Given the description of an element on the screen output the (x, y) to click on. 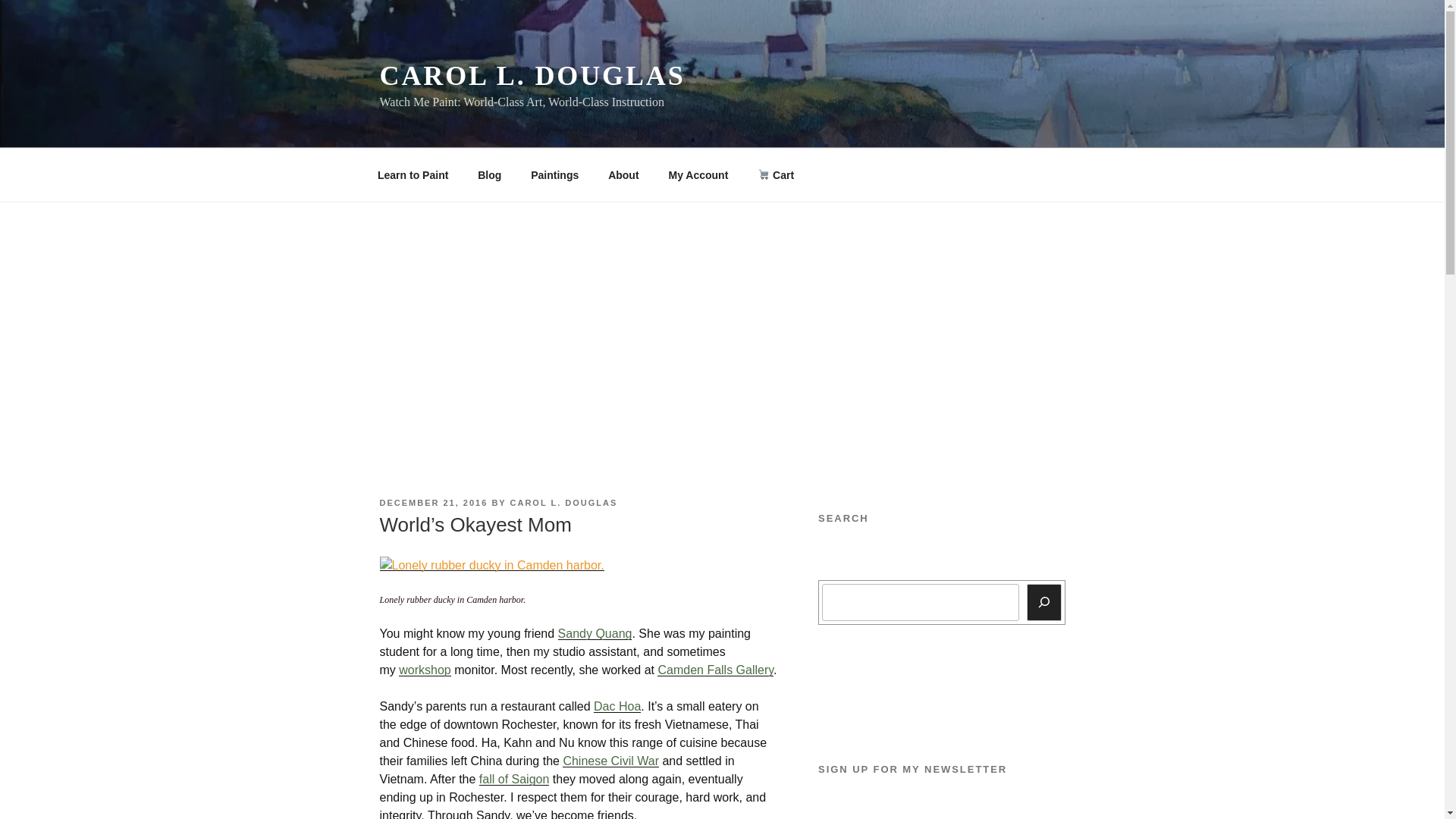
fall of Saigon (514, 779)
My Account (698, 174)
Chinese Civil War (610, 760)
Paintings (555, 174)
DECEMBER 21, 2016 (432, 501)
Dac Hoa (617, 706)
Camden Falls Gallery (715, 669)
About (623, 174)
CAROL L. DOUGLAS (564, 501)
Blog (489, 174)
